Given the description of an element on the screen output the (x, y) to click on. 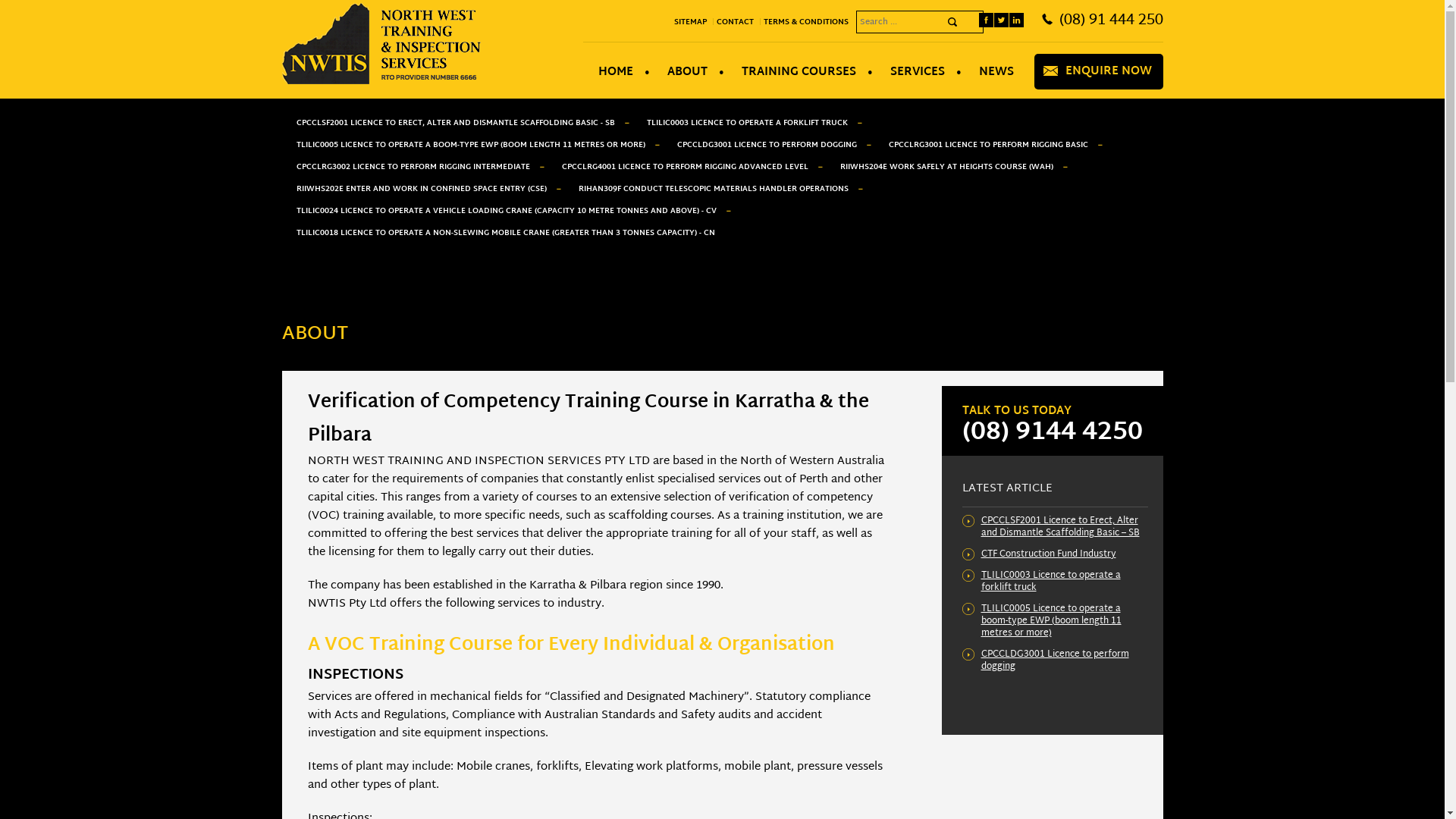
RIIWHS204E WORK SAFELY AT HEIGHTS COURSE (WAH) Element type: text (945, 167)
CTF Construction Fund Industry Element type: text (1048, 554)
SERVICES Element type: text (917, 72)
TERMS & CONDITIONS Element type: text (808, 22)
CPCCLDG3001 LICENCE TO PERFORM DOGGING Element type: text (766, 145)
CONTACT Element type: text (737, 22)
CPCCLDG3001 Licence to perform dogging Element type: text (1055, 660)
TRAINING COURSES Element type: text (799, 72)
RIHAN309F CONDUCT TELESCOPIC MATERIALS HANDLER OPERATIONS Element type: text (713, 189)
CPCCLRG3002 LICENCE TO PERFORM RIGGING INTERMEDIATE Element type: text (413, 167)
TLILIC0003 Licence to operate a forklift truck Element type: text (1050, 581)
CPCCLRG3001 LICENCE TO PERFORM RIGGING BASIC Element type: text (987, 145)
North West Training & Inspection Services Element type: hover (381, 81)
TLILIC0003 LICENCE TO OPERATE A FORKLIFT TRUCK Element type: text (747, 123)
CPCCLRG4001 LICENCE TO PERFORM RIGGING ADVANCED LEVEL Element type: text (684, 167)
Search for: Element type: hover (918, 21)
RIIWHS202E ENTER AND WORK IN CONFINED SPACE ENTRY (CSE) Element type: text (421, 189)
NEWS Element type: text (996, 72)
SITEMAP Element type: text (692, 22)
(08) 9144 4250 Element type: text (1051, 432)
ABOUT Element type: text (687, 72)
ENQUIRE NOW Element type: text (1107, 71)
Search Element type: text (951, 20)
HOME Element type: text (615, 72)
(08) 91 444 250 Element type: text (1110, 20)
